Given the description of an element on the screen output the (x, y) to click on. 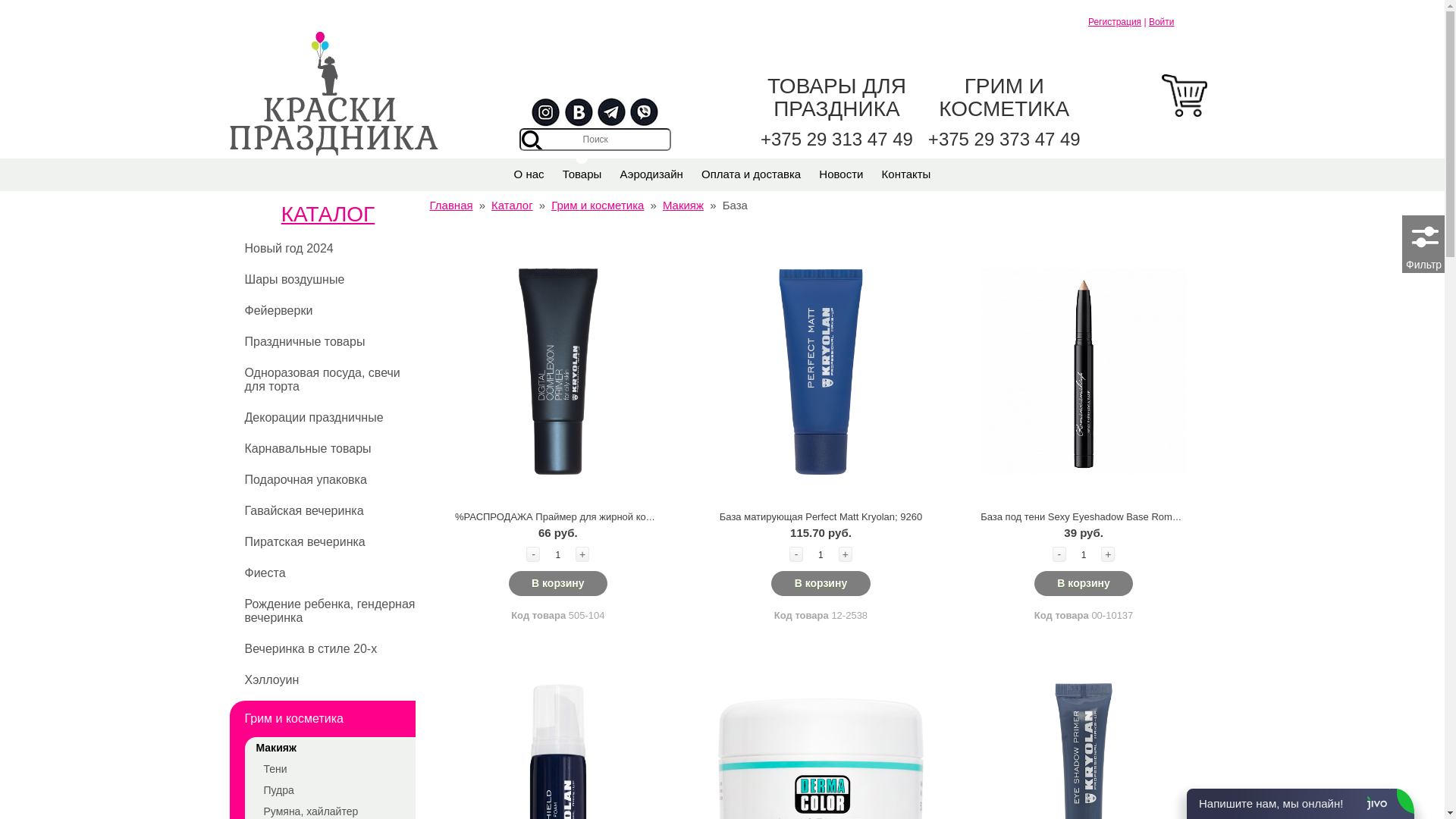
telegram Element type: hover (611, 112)
- Element type: text (796, 553)
+ Element type: text (1107, 553)
instagram Element type: hover (545, 112)
- Element type: text (1059, 553)
+ Element type: text (582, 553)
+ Element type: text (845, 553)
viber Element type: hover (644, 112)
- Element type: text (532, 553)
